Given the description of an element on the screen output the (x, y) to click on. 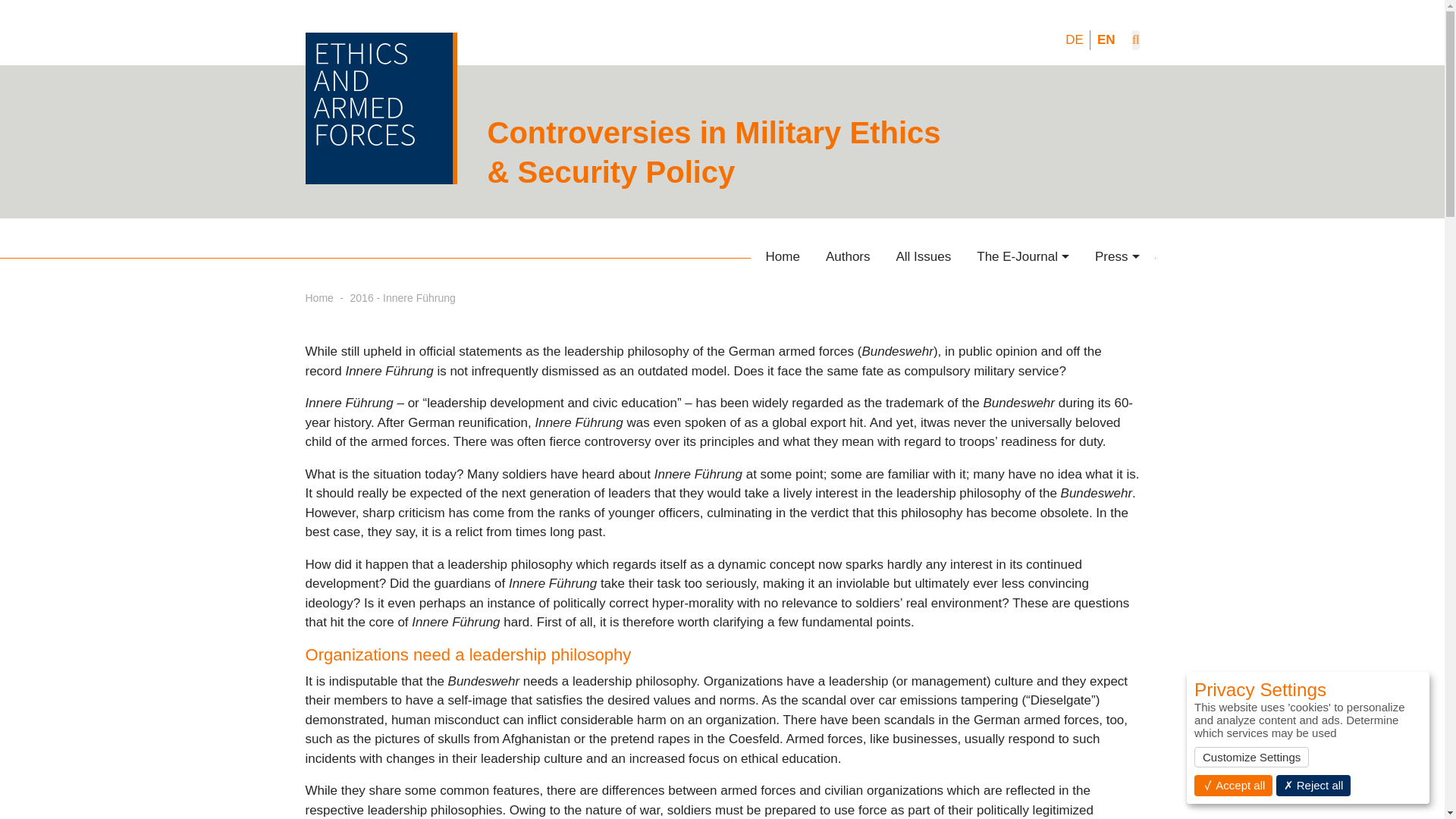
Authors (847, 256)
Home (318, 297)
All Issues (922, 256)
The E-Journal (1022, 256)
DE (1074, 39)
Home (782, 256)
EN (1106, 39)
Customize Settings (1250, 756)
EN (1106, 39)
All Issues (922, 256)
